Given the description of an element on the screen output the (x, y) to click on. 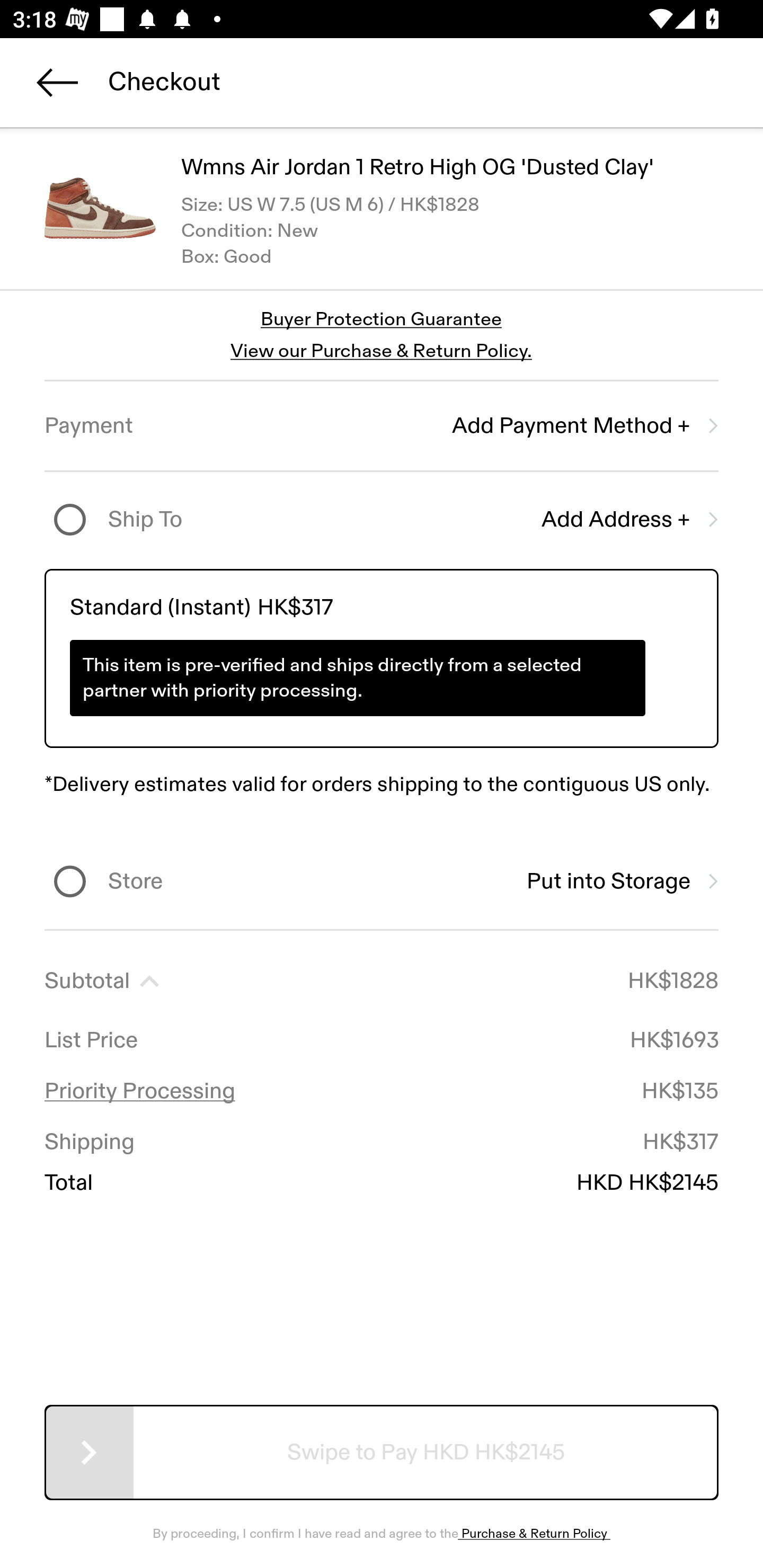
Navigate up (56, 82)
Buyer Protection Guarantee (381, 319)
View our Purchase & Return Policy. (380, 350)
Payment Add Payment Method + (381, 425)
Subtotal HK$1828 (381, 981)
Priority Processing HK$135 (381, 1091)
